Given the description of an element on the screen output the (x, y) to click on. 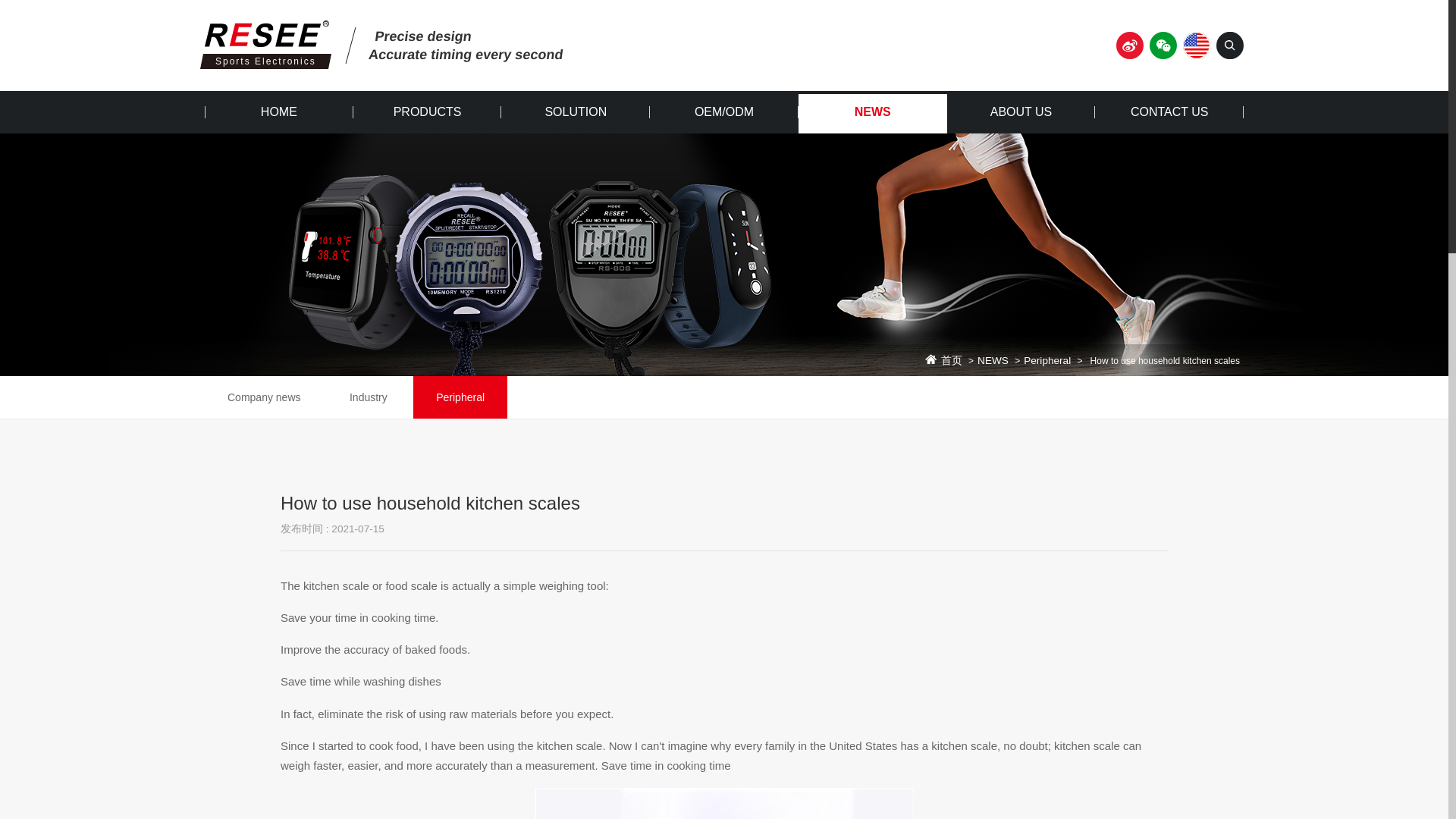
SOLUTION (574, 111)
NEWS (872, 111)
PRODUCTS (427, 111)
NEWS (872, 111)
Company news (264, 396)
Peripheral (459, 396)
NEWS (992, 360)
Industry (368, 396)
CONTACT US (1168, 111)
Peripheral (1046, 360)
ABOUT US (1021, 111)
NEWS (992, 360)
HOME (279, 111)
CONTACT US (1168, 111)
Company news (264, 396)
